Given the description of an element on the screen output the (x, y) to click on. 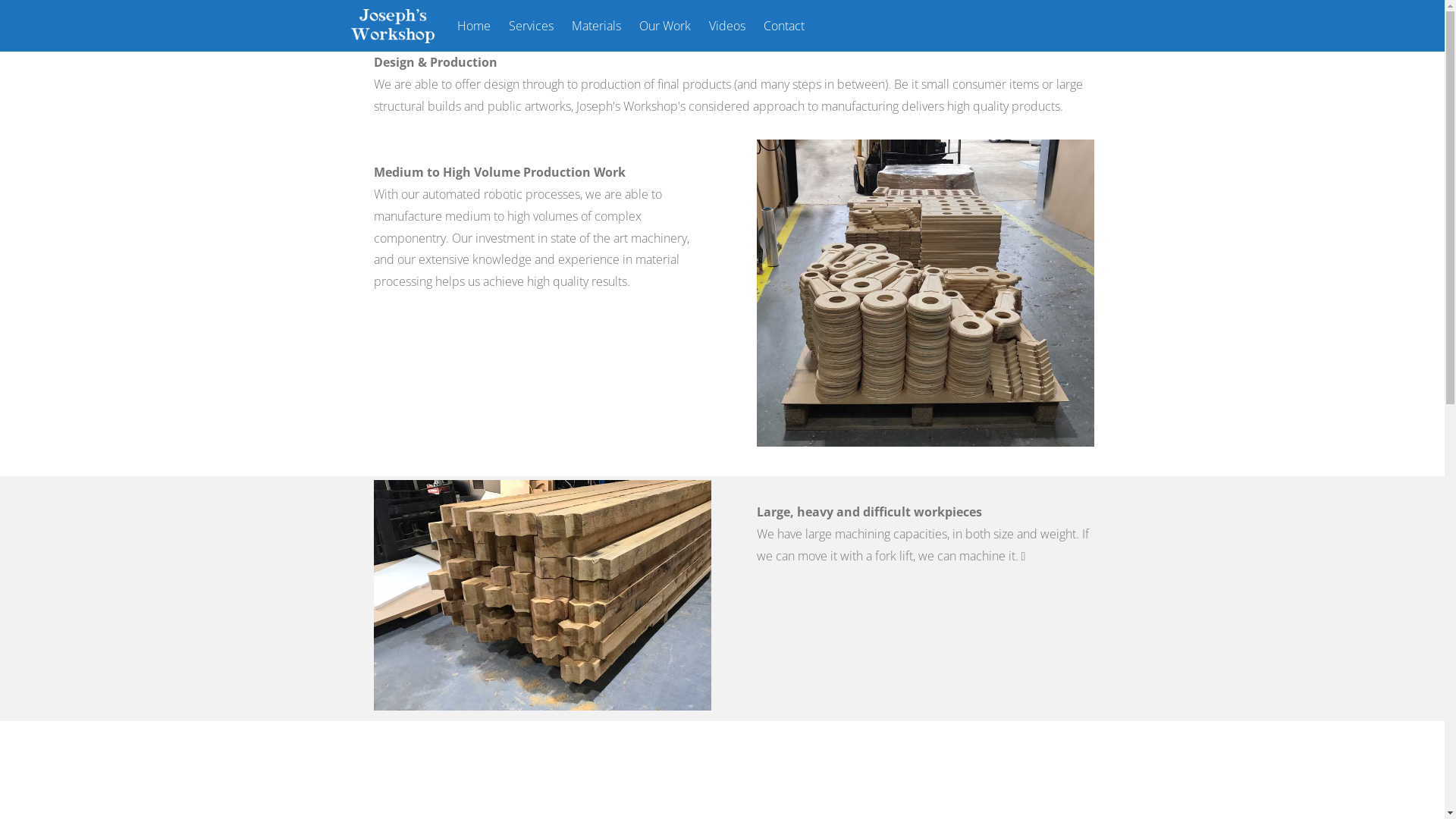
Home Element type: text (473, 25)
Materials Element type: text (596, 25)
Contact Element type: text (784, 25)
Videos Element type: text (727, 25)
Our Work Element type: text (664, 25)
Services Element type: text (531, 25)
